Given the description of an element on the screen output the (x, y) to click on. 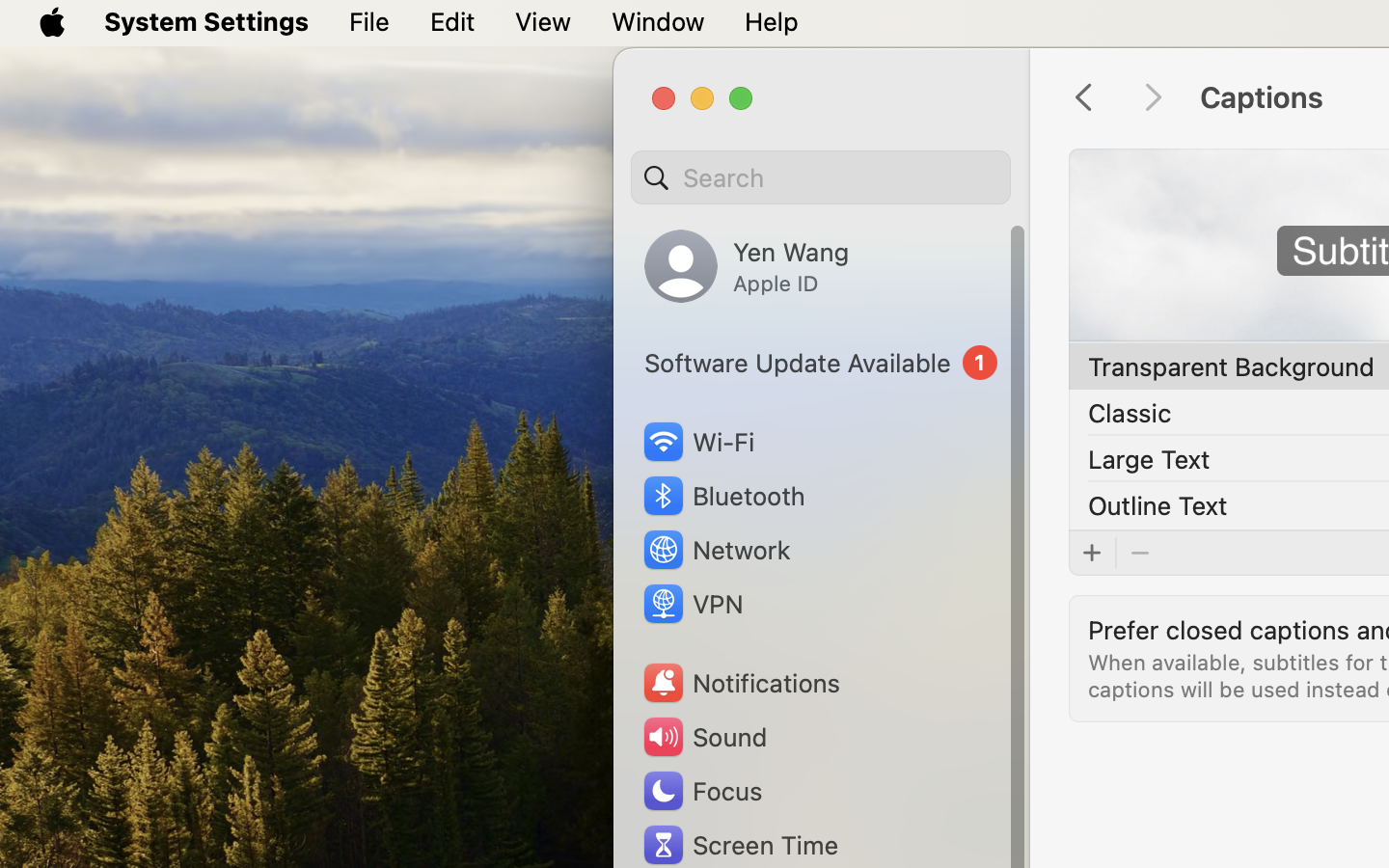
Transparent Background Element type: AXStaticText (1231, 366)
Sound Element type: AXStaticText (703, 736)
Notifications Element type: AXStaticText (740, 682)
Yen Wang, Apple ID Element type: AXStaticText (746, 265)
Network Element type: AXStaticText (715, 549)
